Given the description of an element on the screen output the (x, y) to click on. 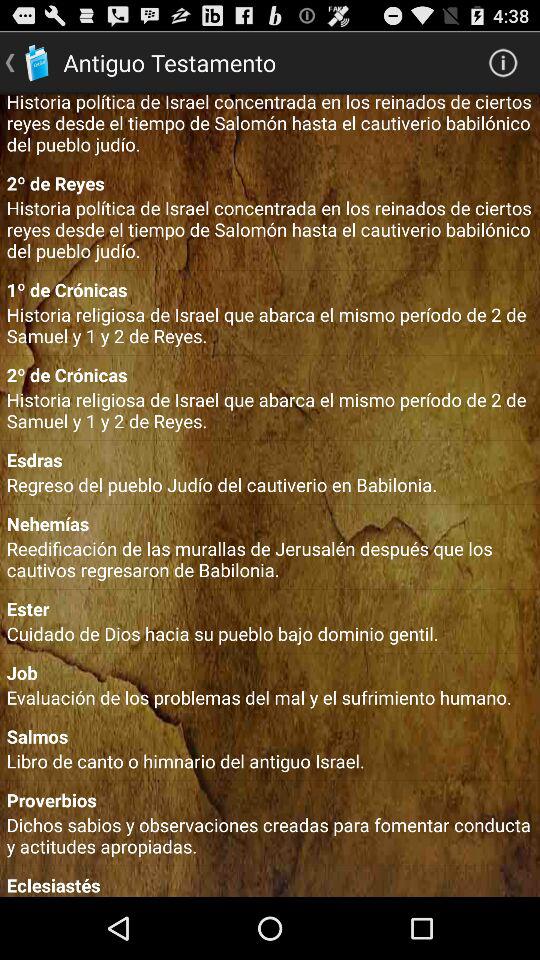
jump until the dichos sabios y (269, 835)
